Given the description of an element on the screen output the (x, y) to click on. 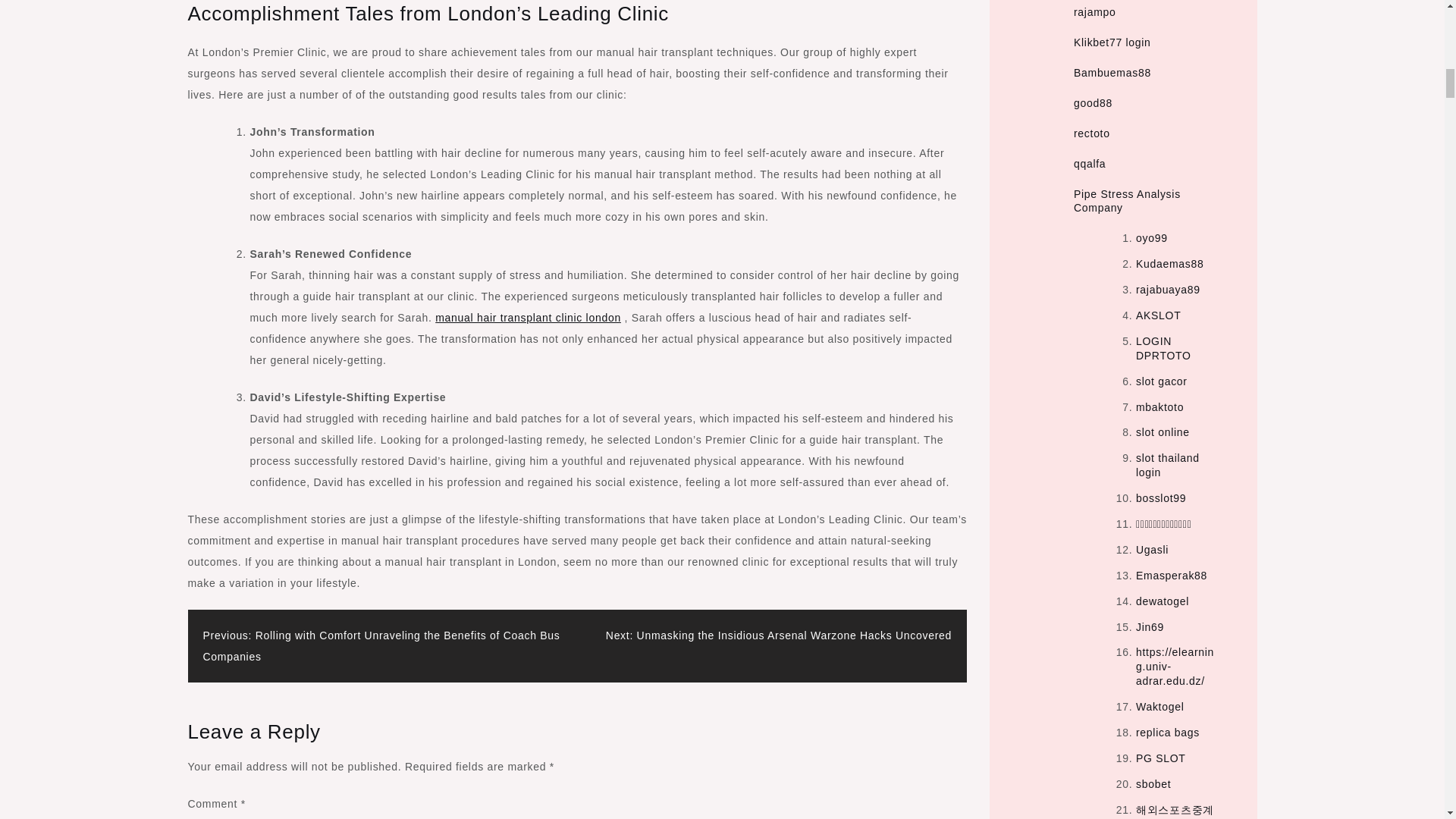
manual hair transplant clinic london (528, 317)
